Given the description of an element on the screen output the (x, y) to click on. 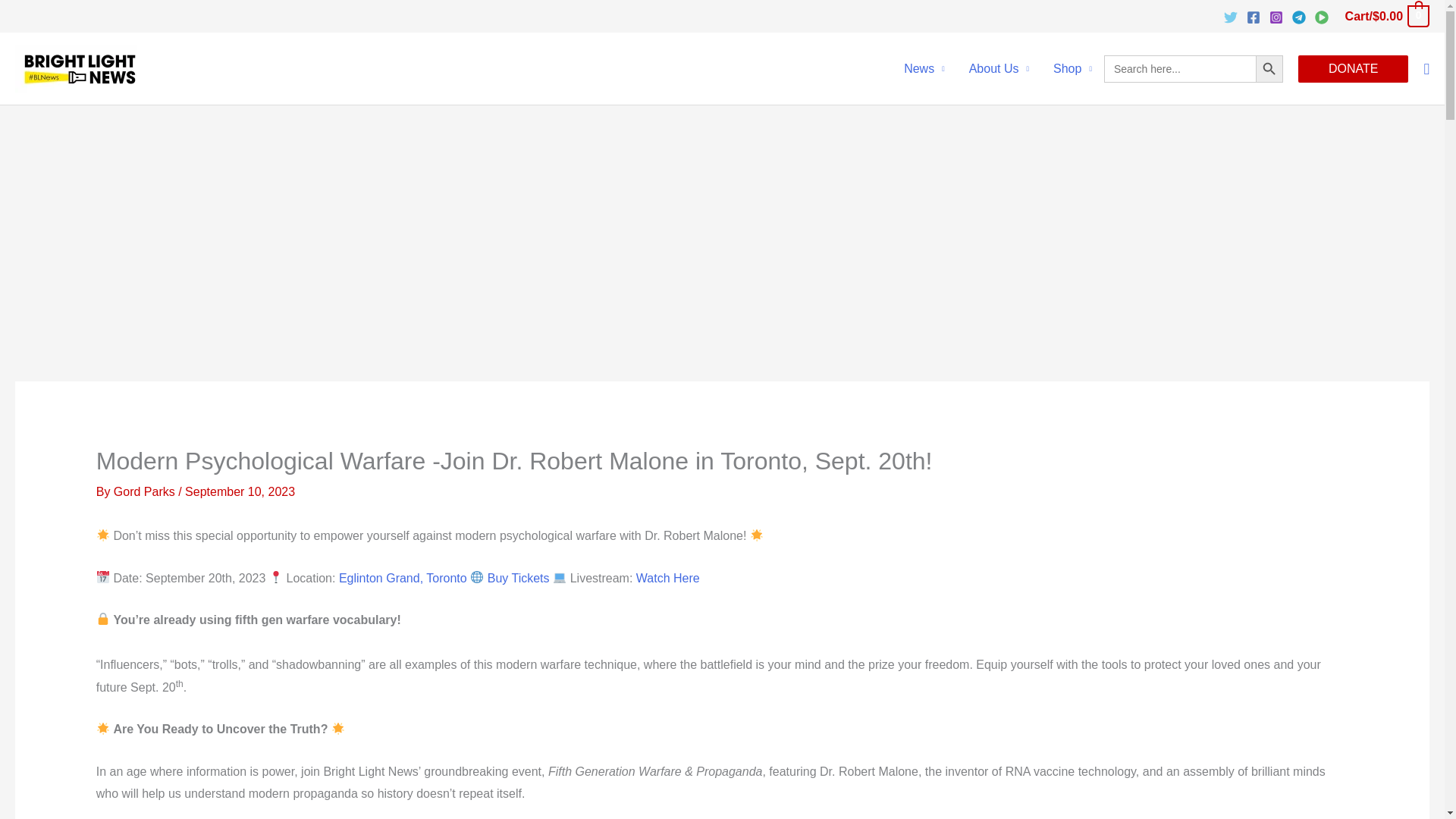
DONATE (1352, 68)
Search (48, 28)
View all posts by Gord Parks (145, 491)
News (923, 68)
About Us (998, 68)
Shop (1072, 68)
Search Button (1268, 68)
